Given the description of an element on the screen output the (x, y) to click on. 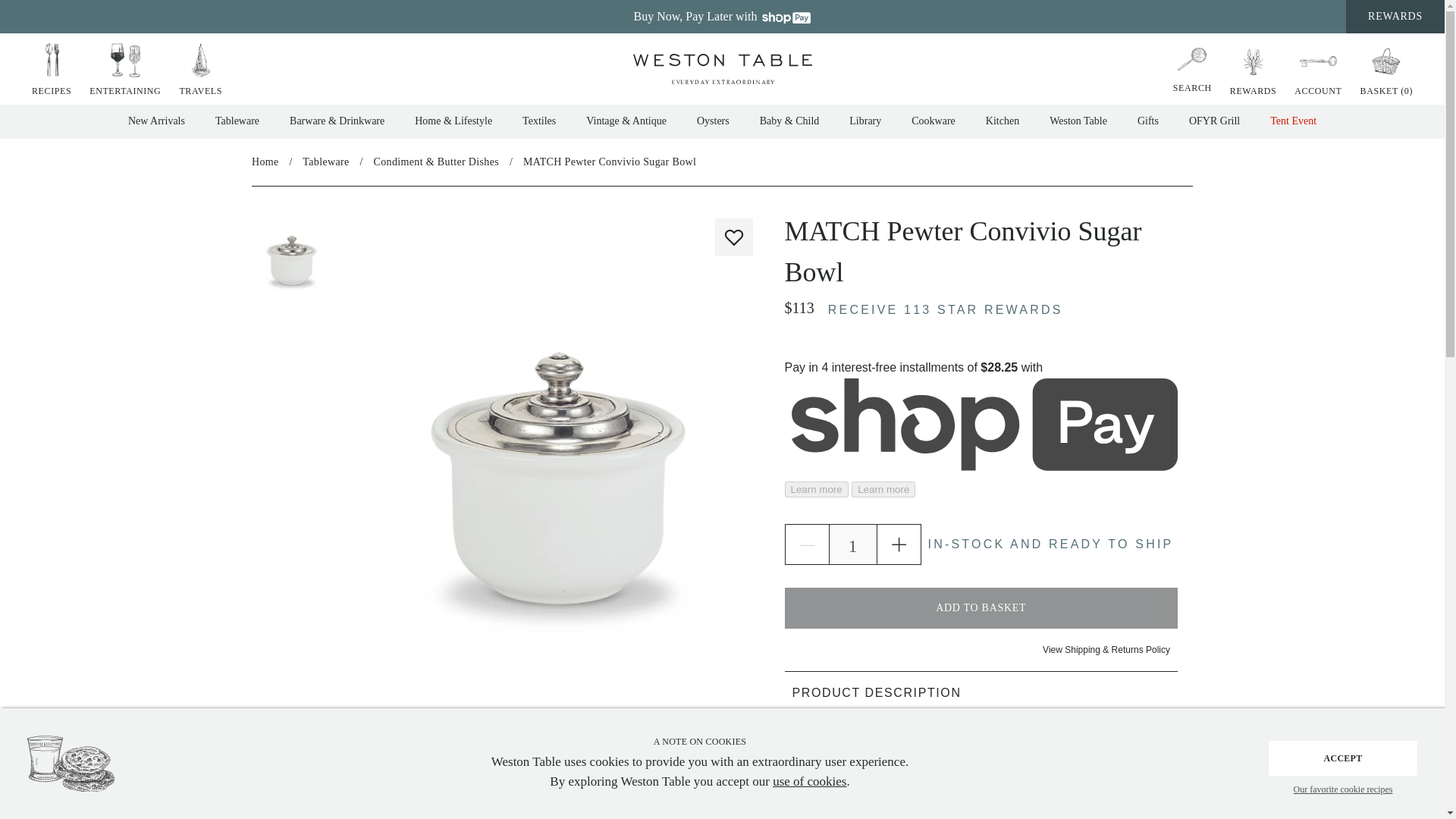
ACCEPT (1342, 758)
ENTERTAINING (125, 69)
ACCOUNT (1318, 70)
SEARCH (1192, 66)
Our favorite cookie recipes (1342, 789)
1 (852, 544)
RECIPES (51, 69)
Rewards (1253, 70)
TRAVELS (200, 69)
New Arrivals (156, 121)
Account (1318, 70)
use of cookies (809, 780)
REWARDS (1253, 70)
